Given the description of an element on the screen output the (x, y) to click on. 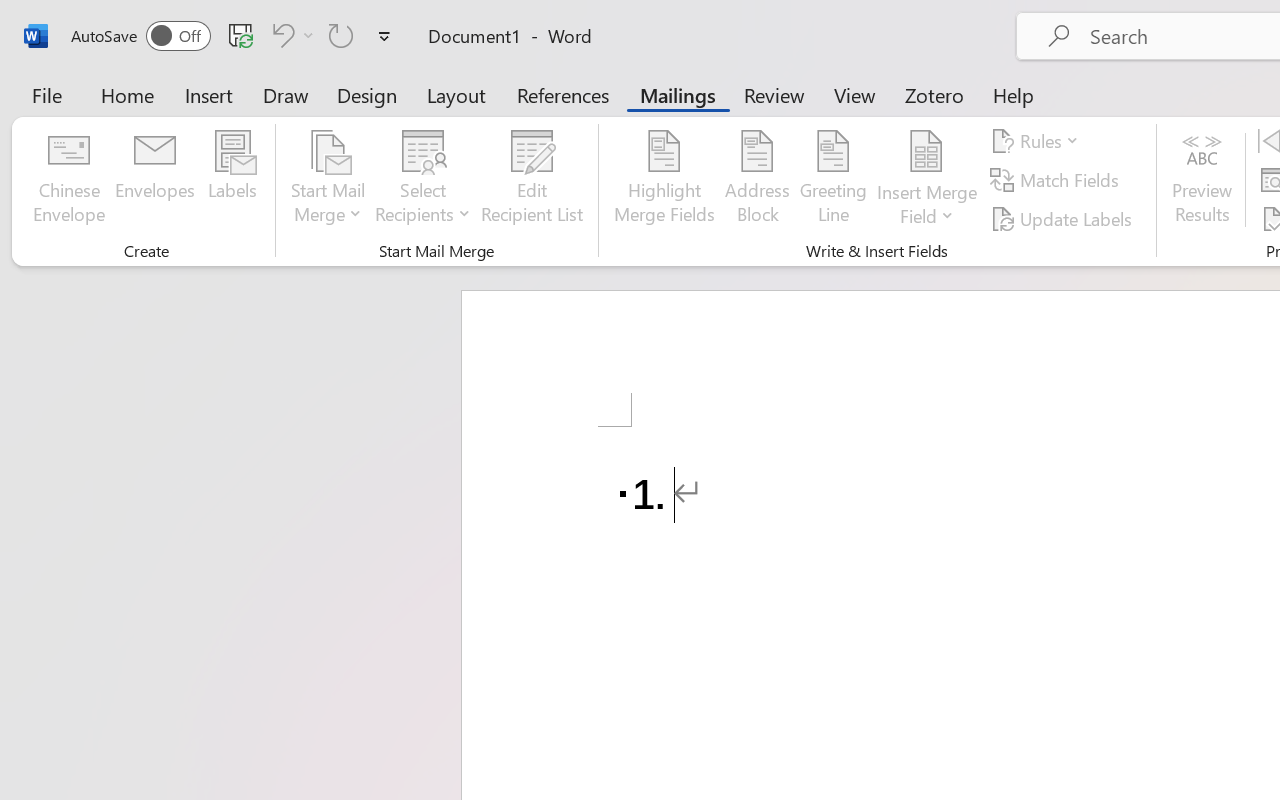
Greeting Line... (833, 179)
Insert Merge Field (927, 151)
Select Recipients (423, 179)
Match Fields... (1057, 179)
Repeat Doc Close (341, 35)
Edit Recipient List... (532, 179)
